Given the description of an element on the screen output the (x, y) to click on. 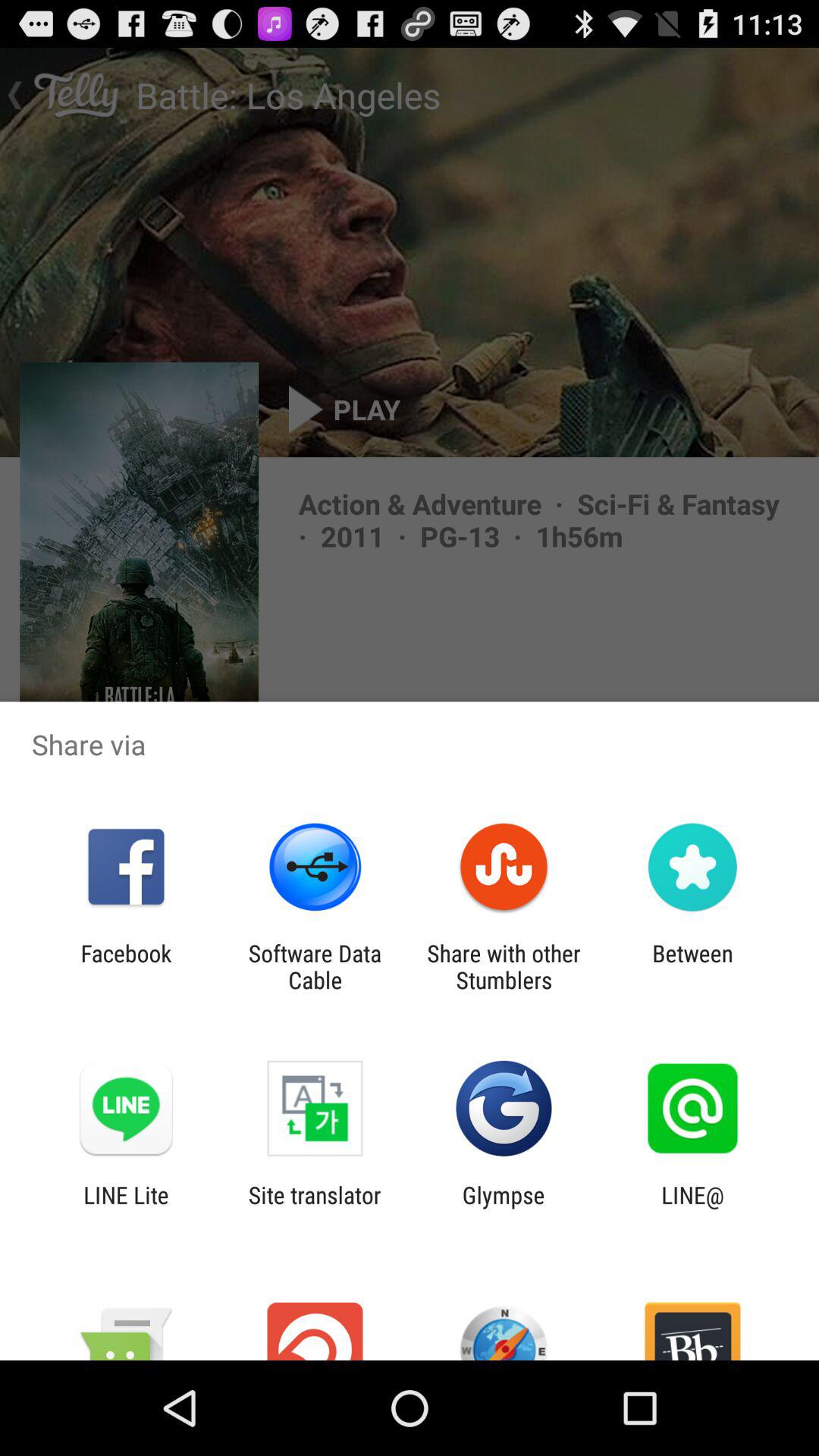
select the item to the left of site translator (125, 1208)
